Given the description of an element on the screen output the (x, y) to click on. 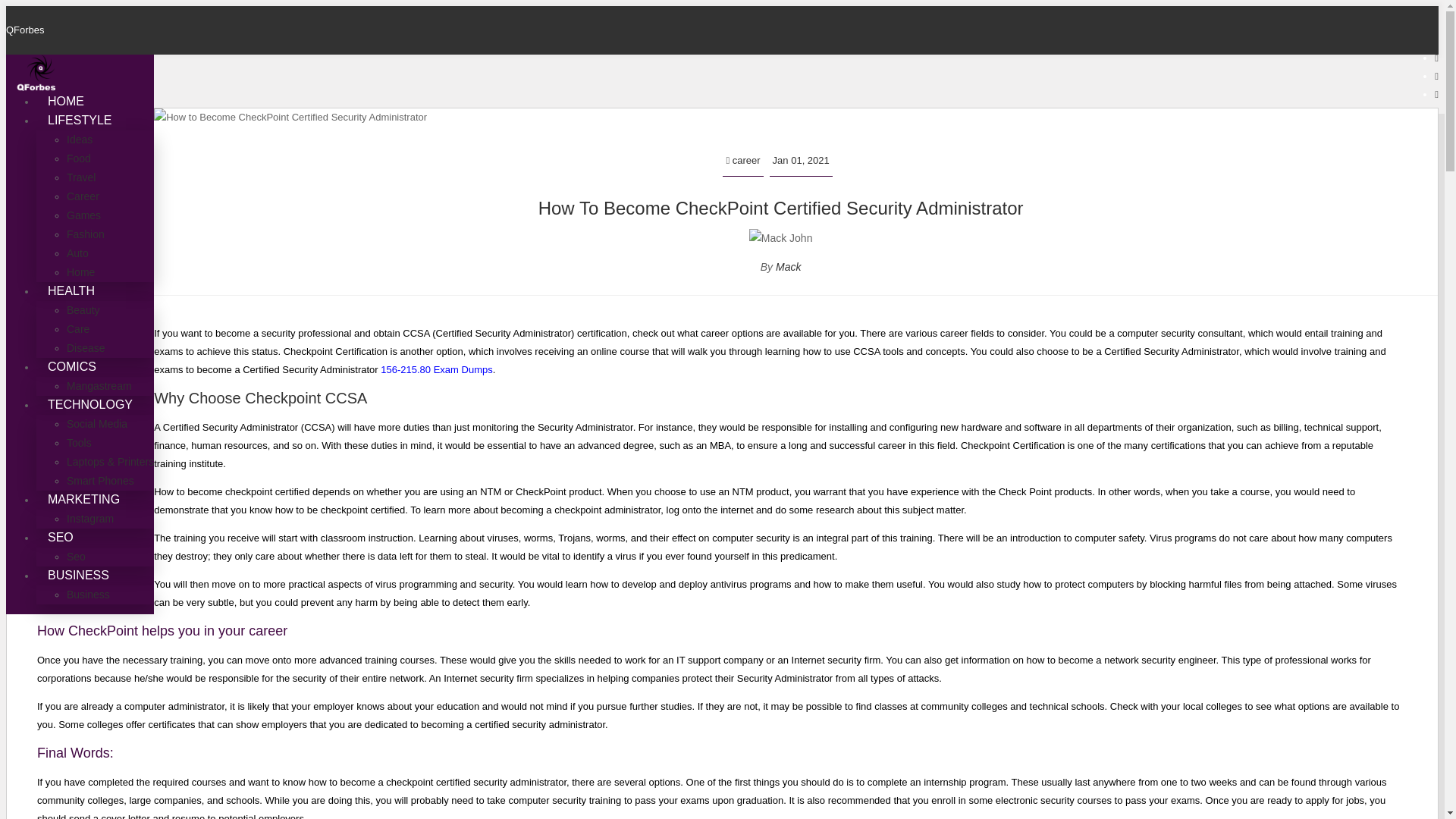
Mangastream (99, 386)
Beauty (83, 309)
Home (80, 272)
Mack (788, 266)
MARKETING (83, 499)
Mack John (780, 238)
BUSINESS (78, 574)
Food (78, 158)
Games (83, 215)
Travel (81, 177)
Auto (77, 253)
career (742, 160)
Business (88, 594)
career (742, 160)
QForbes Logo (35, 72)
